Given the description of an element on the screen output the (x, y) to click on. 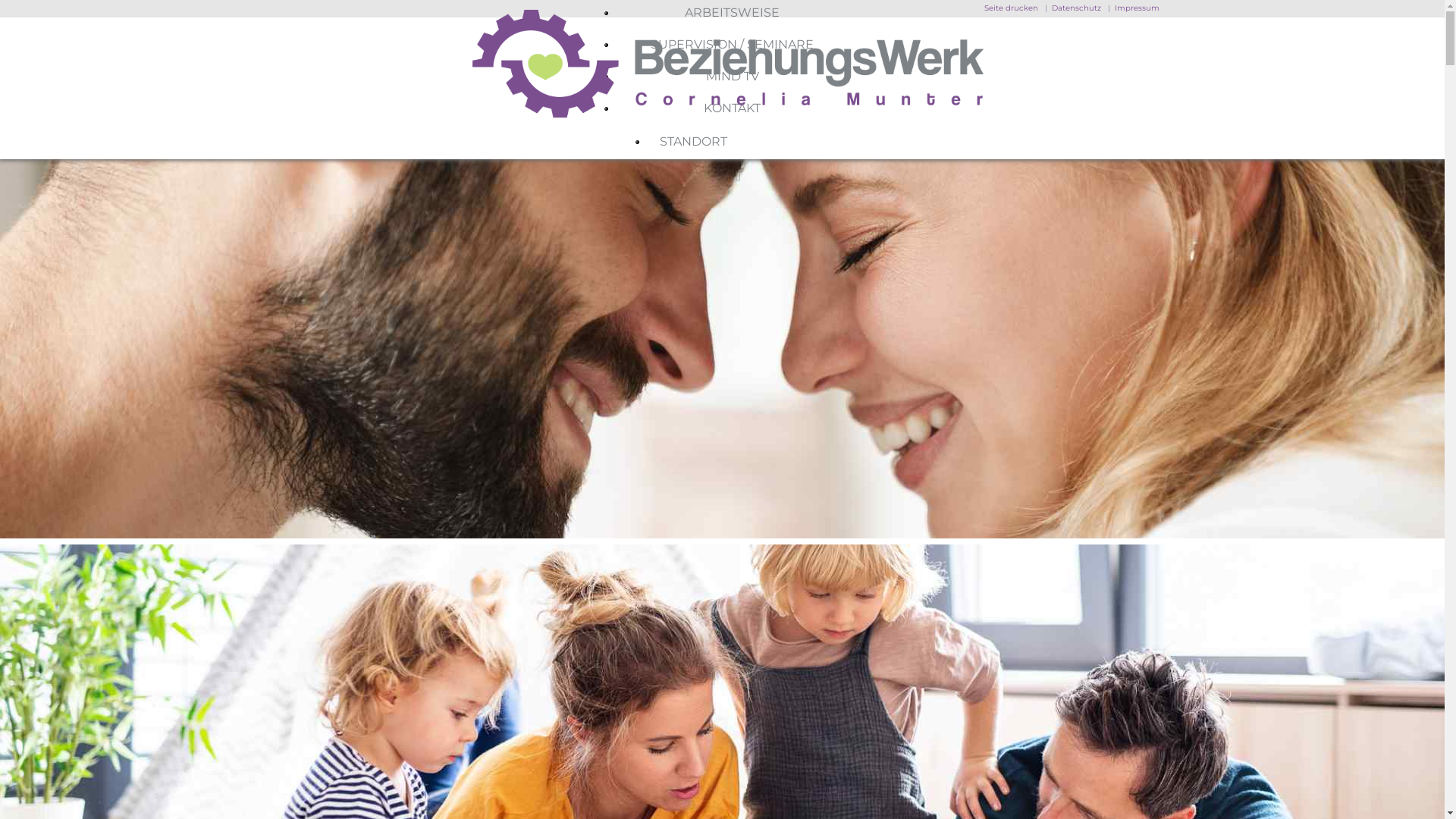
SUPERVISION / SEMINARE Element type: text (731, 44)
STANDORT Element type: text (741, 141)
Datenschutz Element type: text (1075, 7)
ARBEITSWEISE Element type: text (731, 12)
Impressum Element type: text (1136, 7)
MIND TV Element type: text (731, 76)
Seite drucken Element type: text (1011, 7)
KONTAKT Element type: text (731, 107)
